Given the description of an element on the screen output the (x, y) to click on. 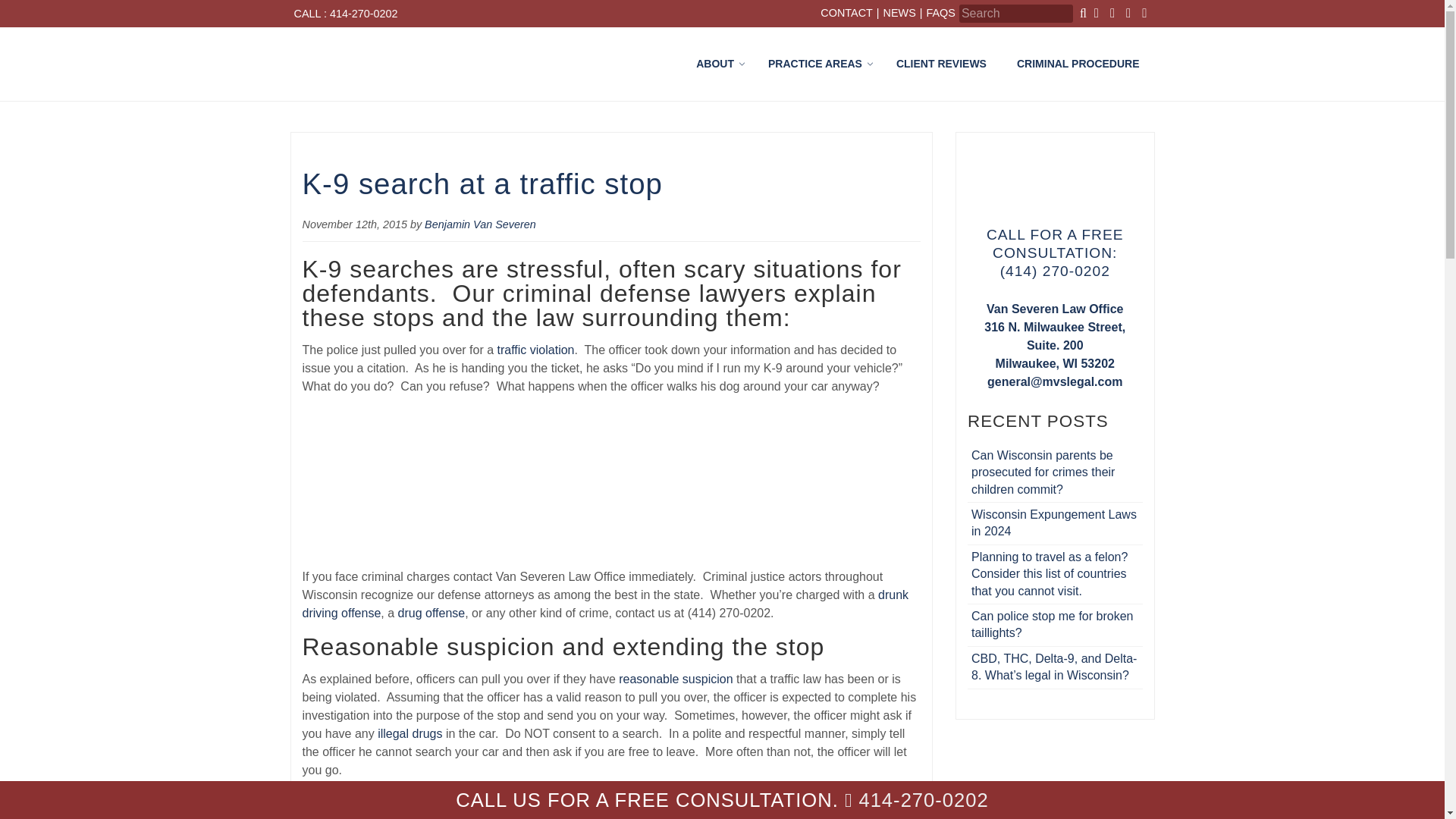
Why did the police pull me over? (675, 678)
NEWS (899, 13)
drug offense (431, 612)
ABOUT (716, 63)
traffic violation (536, 349)
K-9 search at a traffic stop (481, 183)
CONTACT (846, 13)
reasonable suspicion (675, 678)
Permanent Link to K-9 search at a traffic stop (481, 183)
Posts by Benjamin Van Severen (480, 224)
PRACTICE AREAS (917, 63)
Benjamin Van Severen (816, 63)
Traffic Citation Defense (480, 224)
CALL : 414-270-0202 (536, 349)
